Given the description of an element on the screen output the (x, y) to click on. 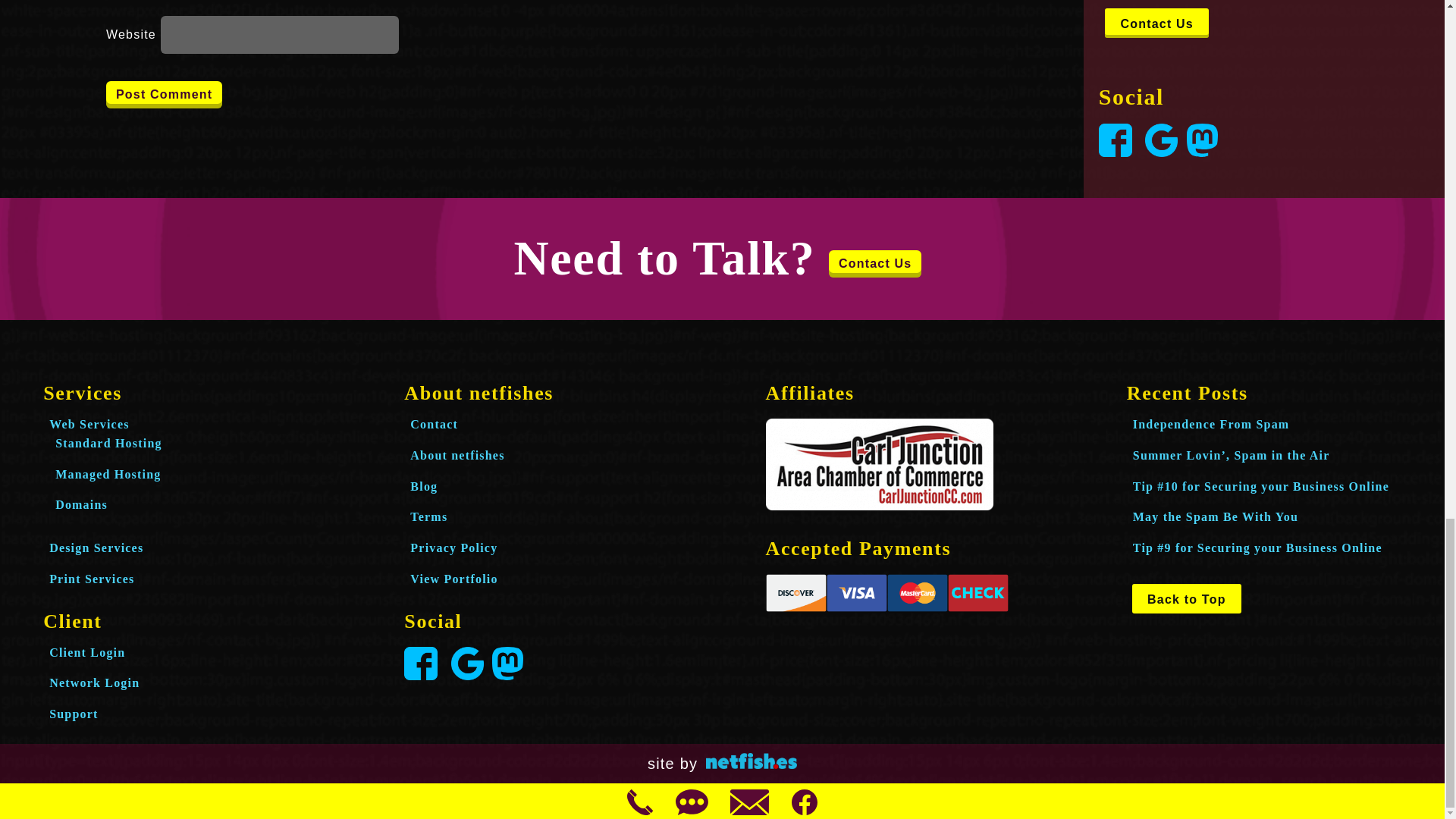
Post Comment (164, 94)
